Given the description of an element on the screen output the (x, y) to click on. 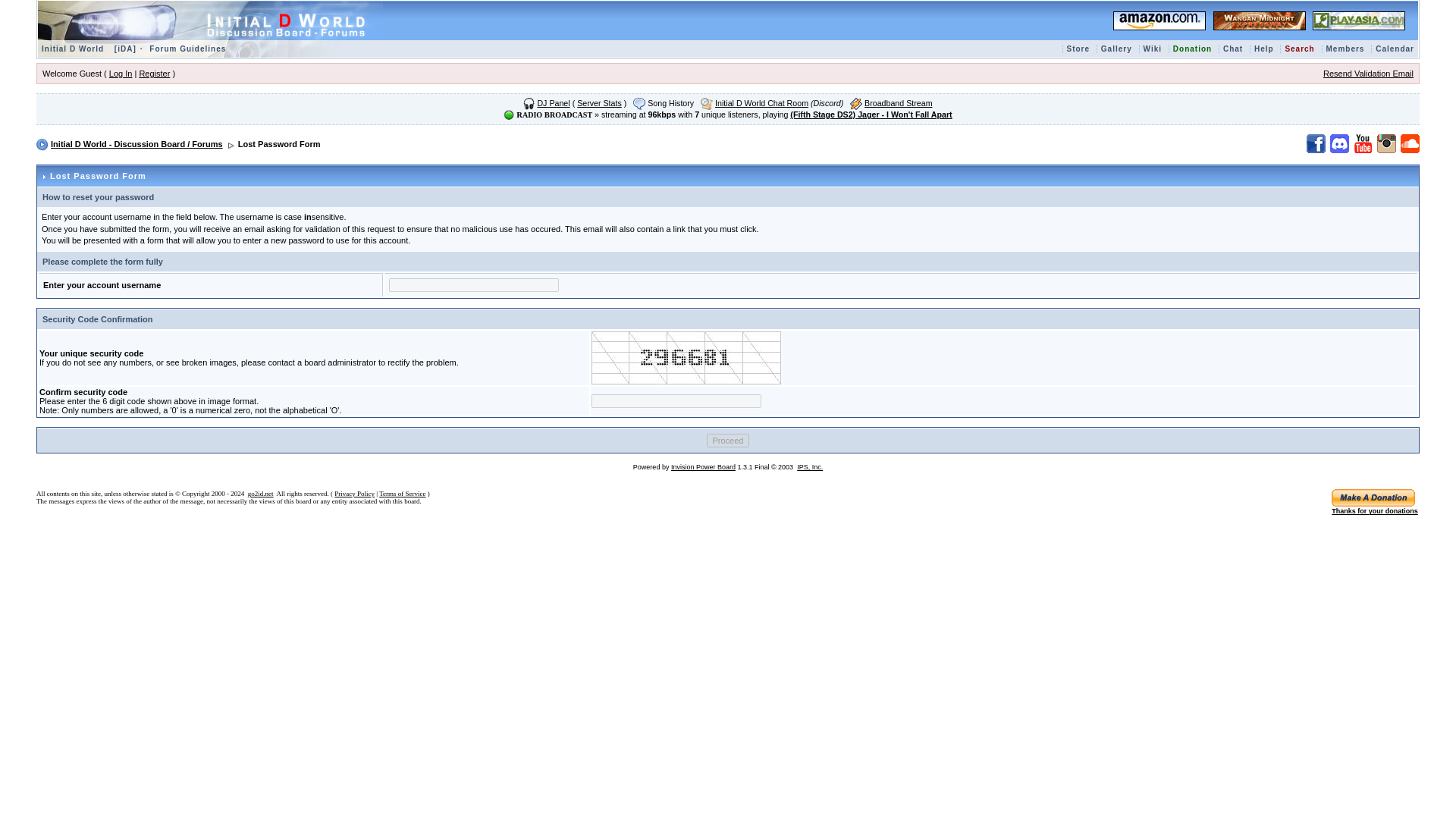
Add or edit any events on our forums calendar and more... (1394, 49)
Broadband Stream (897, 102)
Terms of Service (401, 493)
IPS, Inc. (809, 466)
go2id.net (260, 493)
Register (154, 72)
Invision Power Board (703, 466)
Song History (670, 102)
Chat (1232, 49)
Official Initial D World Instagram - Follow Us Today! (1386, 143)
Current Stream Status: UP and NORMAL (508, 114)
Privacy Policy (354, 493)
Wangan Midnight Expressway Forums (1259, 20)
Proceed (727, 440)
Official Initial D World SoundCloud - Follow Us Today! (1409, 143)
